Given the description of an element on the screen output the (x, y) to click on. 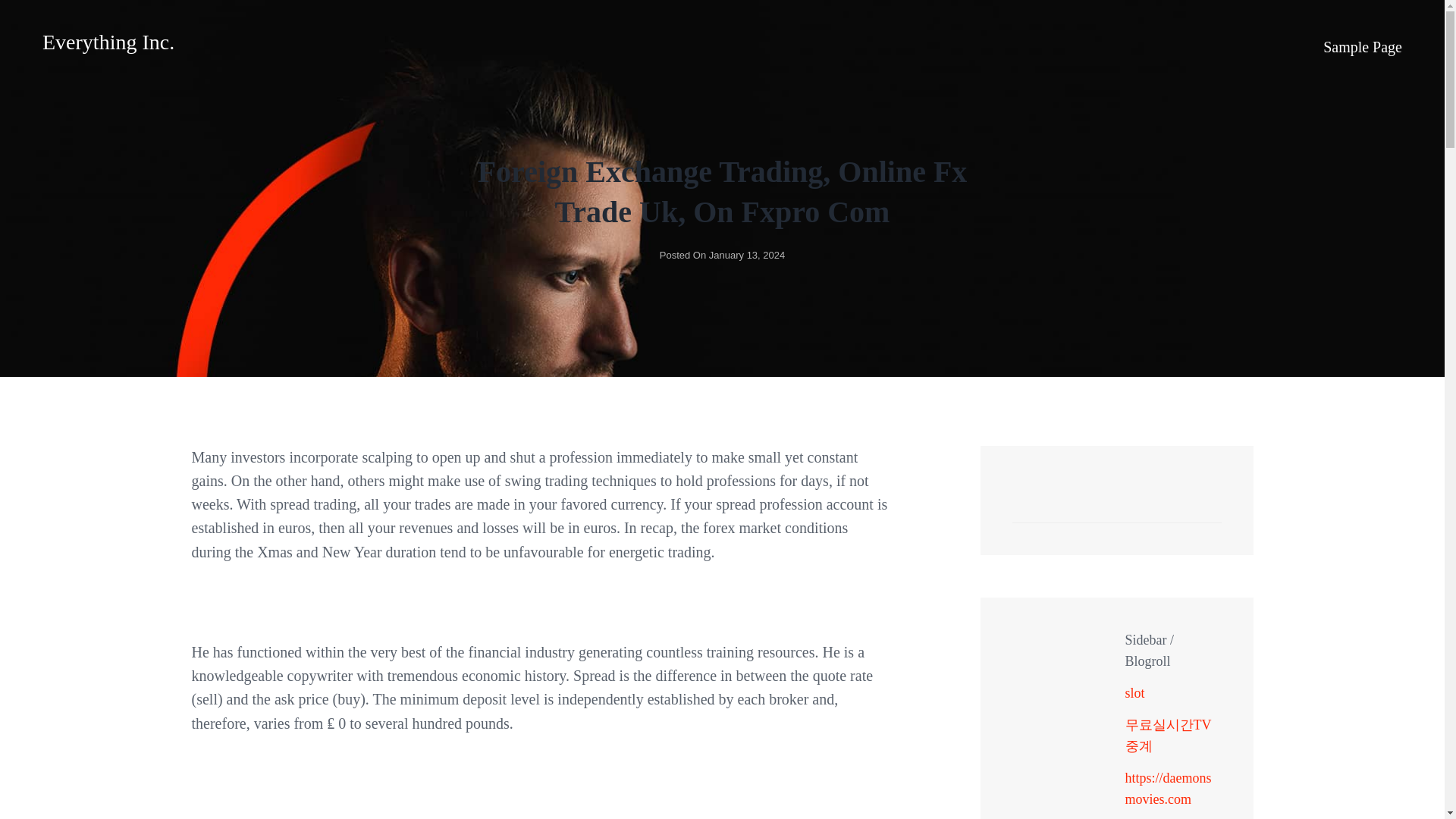
slot (1134, 693)
Posted On January 13, 2024 (722, 255)
SEARCH (1201, 506)
Everything Inc. (108, 42)
Sample Page (1361, 46)
